Given the description of an element on the screen output the (x, y) to click on. 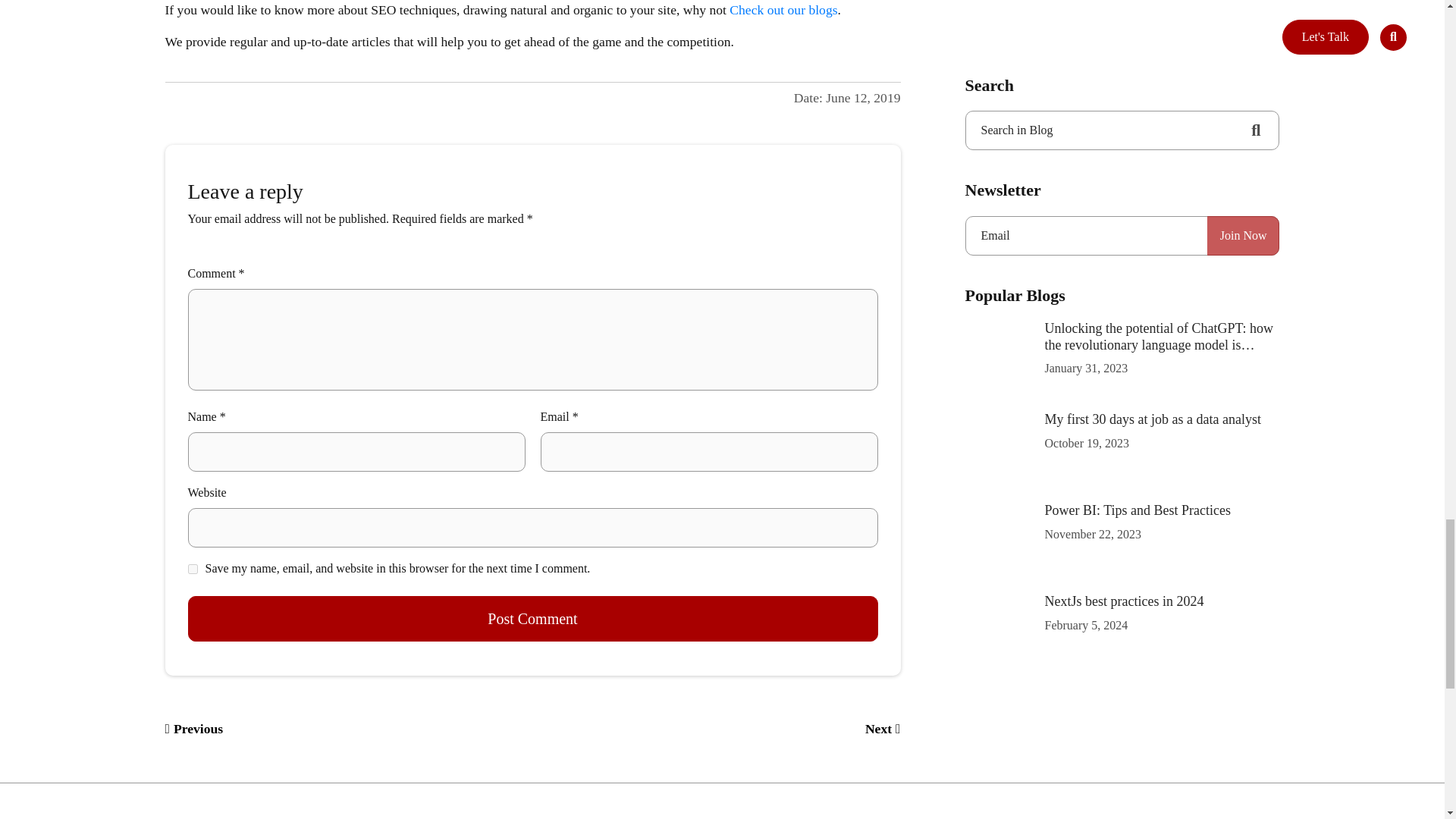
Post Comment (532, 618)
Previous (194, 728)
yes (192, 569)
Post Comment (532, 618)
Check out our blogs (783, 9)
Next (882, 729)
